Given the description of an element on the screen output the (x, y) to click on. 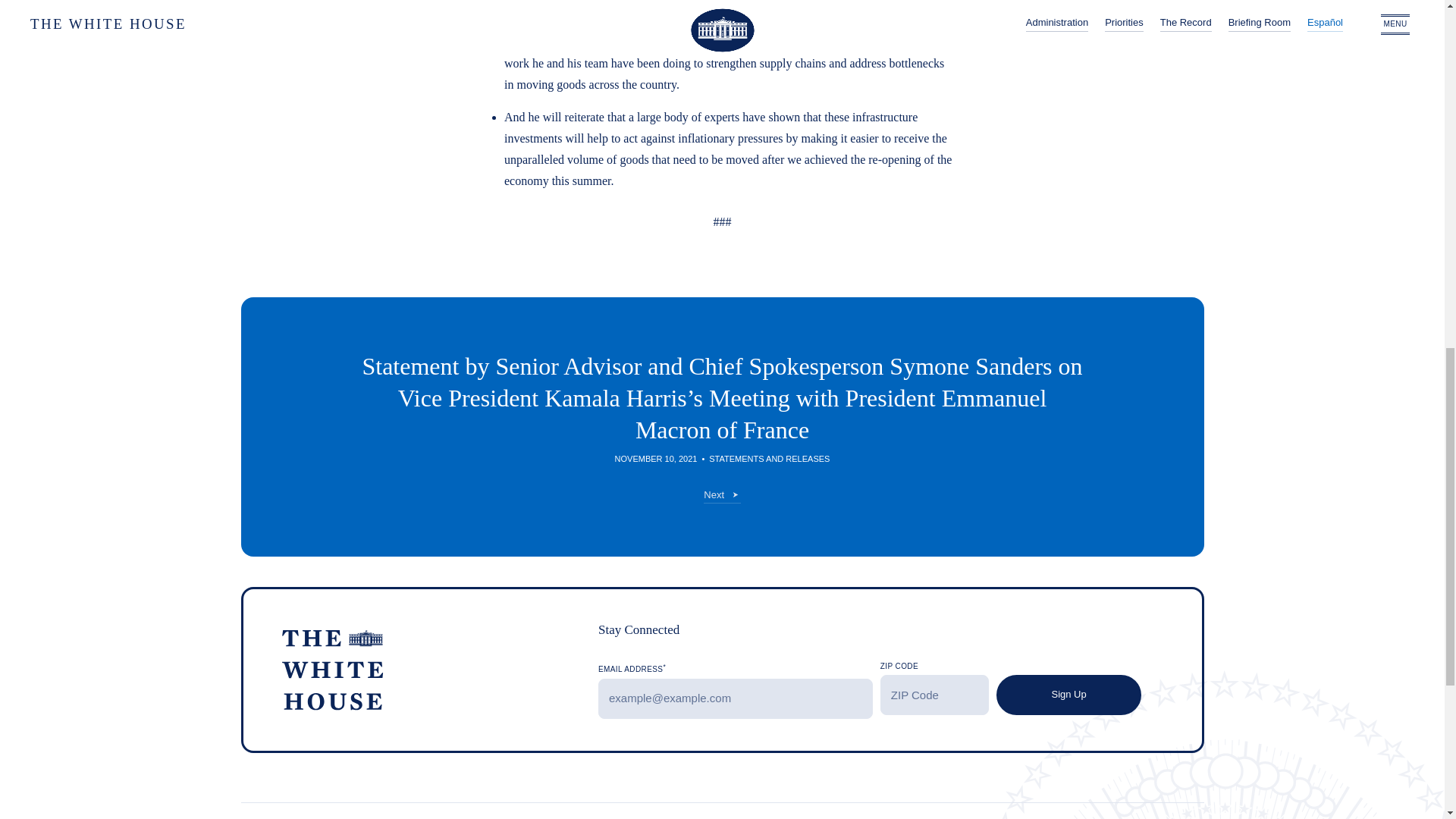
Sign Up (1068, 694)
